Given the description of an element on the screen output the (x, y) to click on. 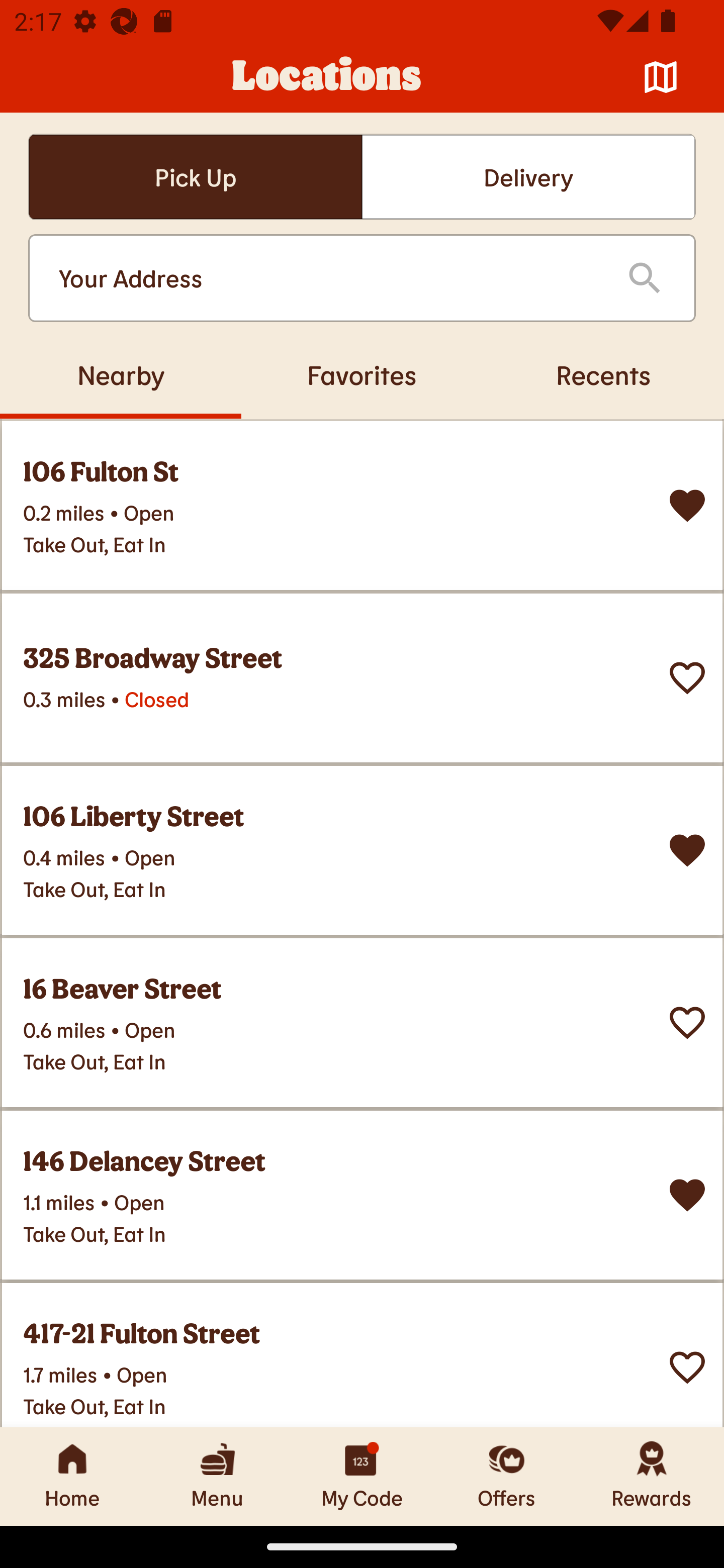
Map 󰦂 (660, 77)
Locations (326, 77)
Pick UpSelected Pick UpSelected Pick Up (195, 176)
Delivery Delivery Delivery (528, 176)
Your Address (327, 277)
Nearby (120, 374)
Favorites (361, 374)
Recents (603, 374)
Remove from Favorites?  (687, 505)
Set this restaurant as a favorite  (687, 677)
Remove from Favorites?  (687, 850)
Set this restaurant as a favorite  (687, 1022)
Remove from Favorites?  (687, 1195)
Set this restaurant as a favorite  (687, 1367)
Home (72, 1475)
Menu (216, 1475)
My Code (361, 1475)
Offers (506, 1475)
Rewards (651, 1475)
